Given the description of an element on the screen output the (x, y) to click on. 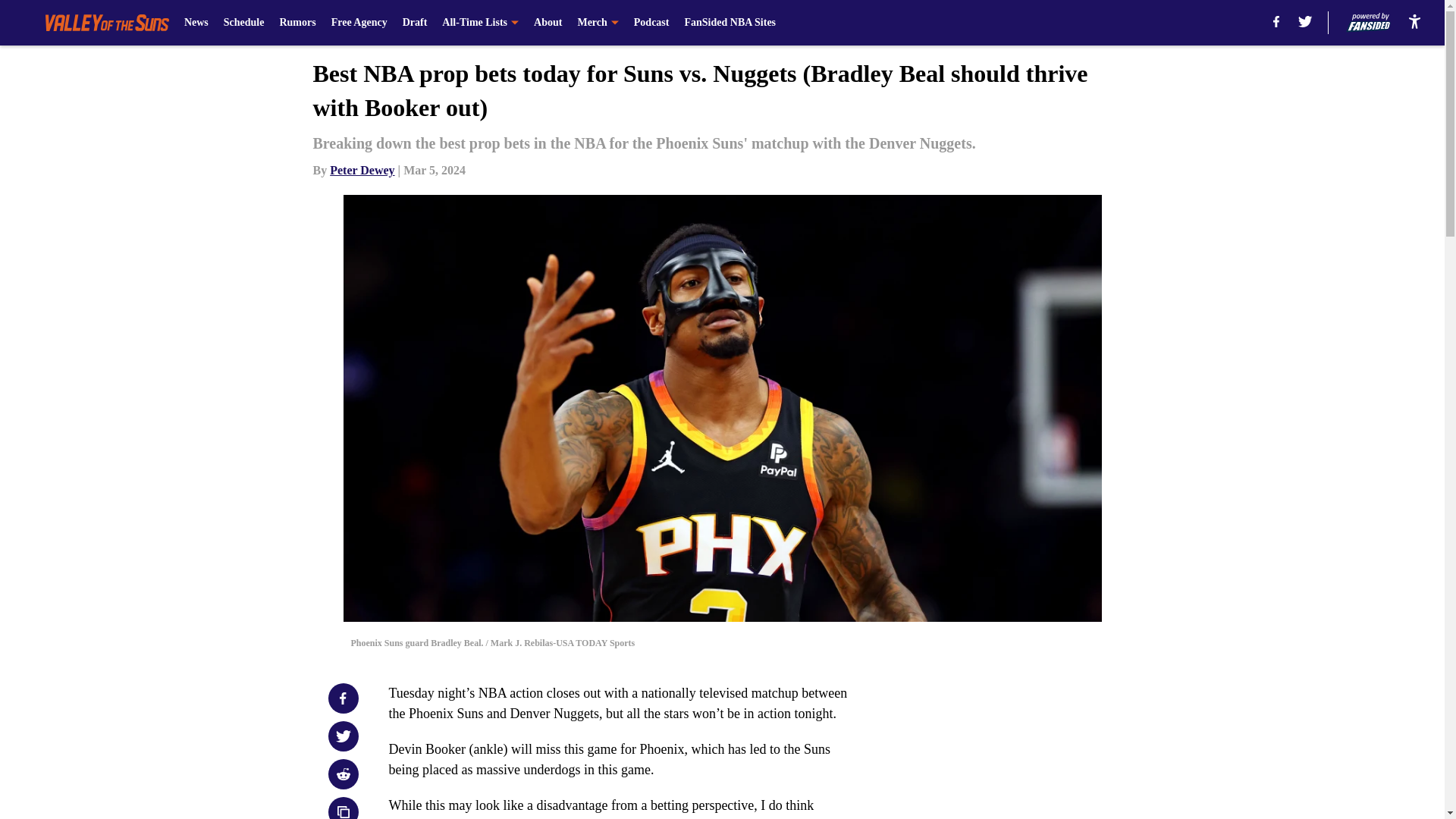
Schedule (244, 22)
Draft (415, 22)
About (548, 22)
Free Agency (359, 22)
All-Time Lists (480, 22)
Merch (596, 22)
News (196, 22)
Rumors (297, 22)
Podcast (651, 22)
FanSided NBA Sites (730, 22)
Peter Dewey (362, 169)
